Given the description of an element on the screen output the (x, y) to click on. 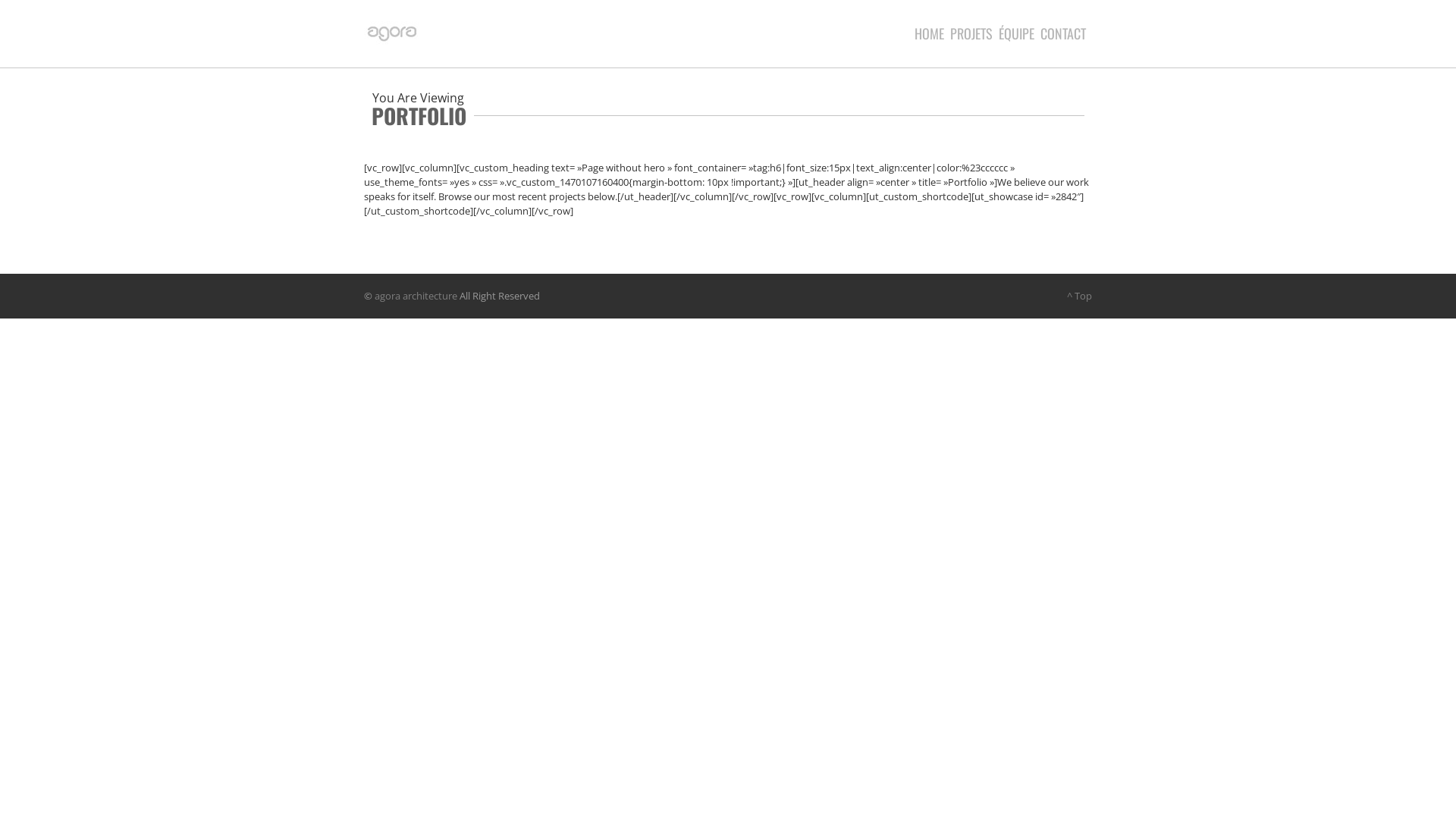
agora architecture Element type: text (415, 295)
^ Top Element type: text (1079, 295)
PROJETS Element type: text (974, 33)
HOME Element type: text (932, 33)
CONTACT Element type: text (1066, 33)
